Given the description of an element on the screen output the (x, y) to click on. 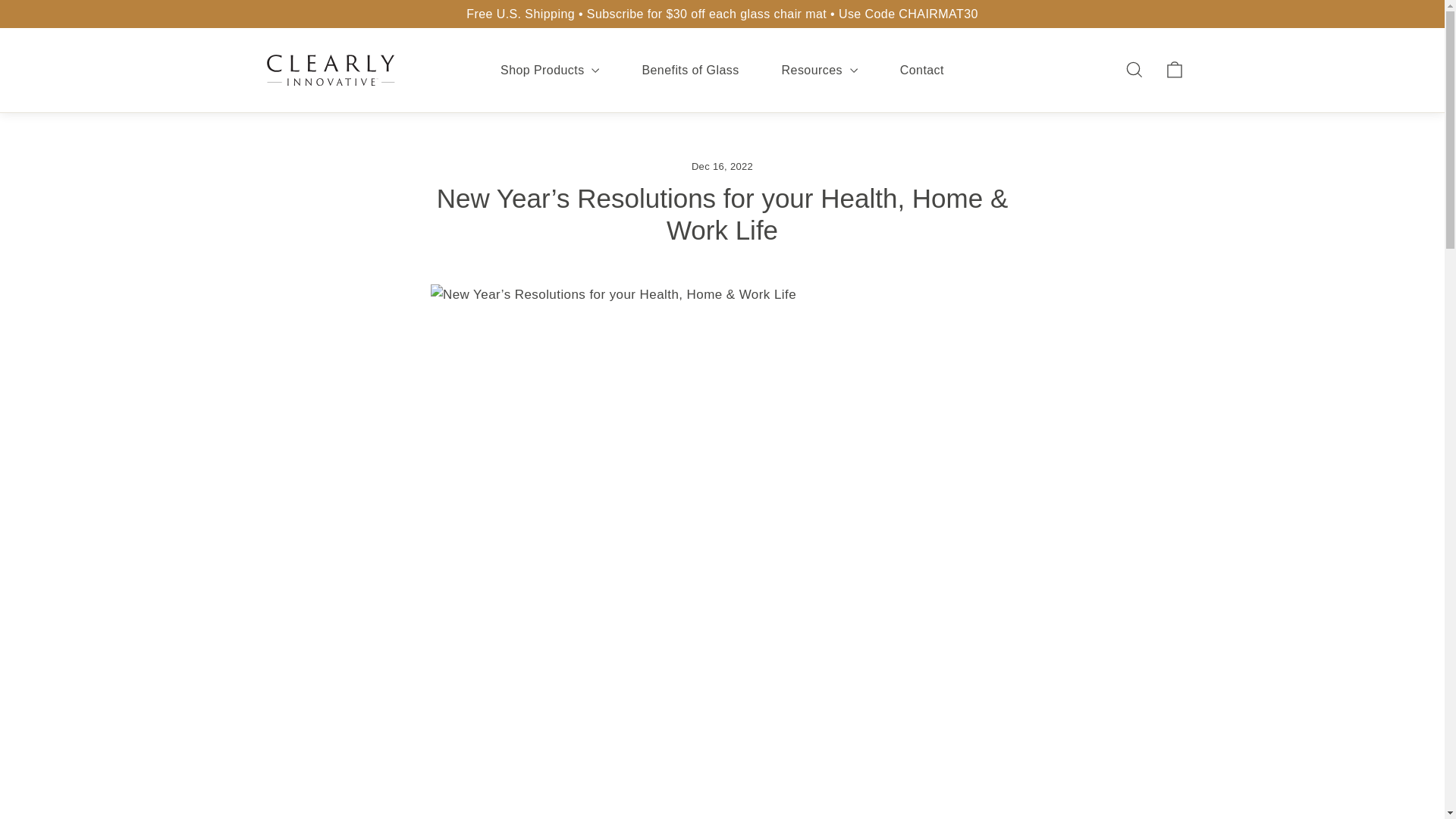
Shop Products (549, 70)
Resources (819, 70)
Benefits of Glass (690, 70)
